Given the description of an element on the screen output the (x, y) to click on. 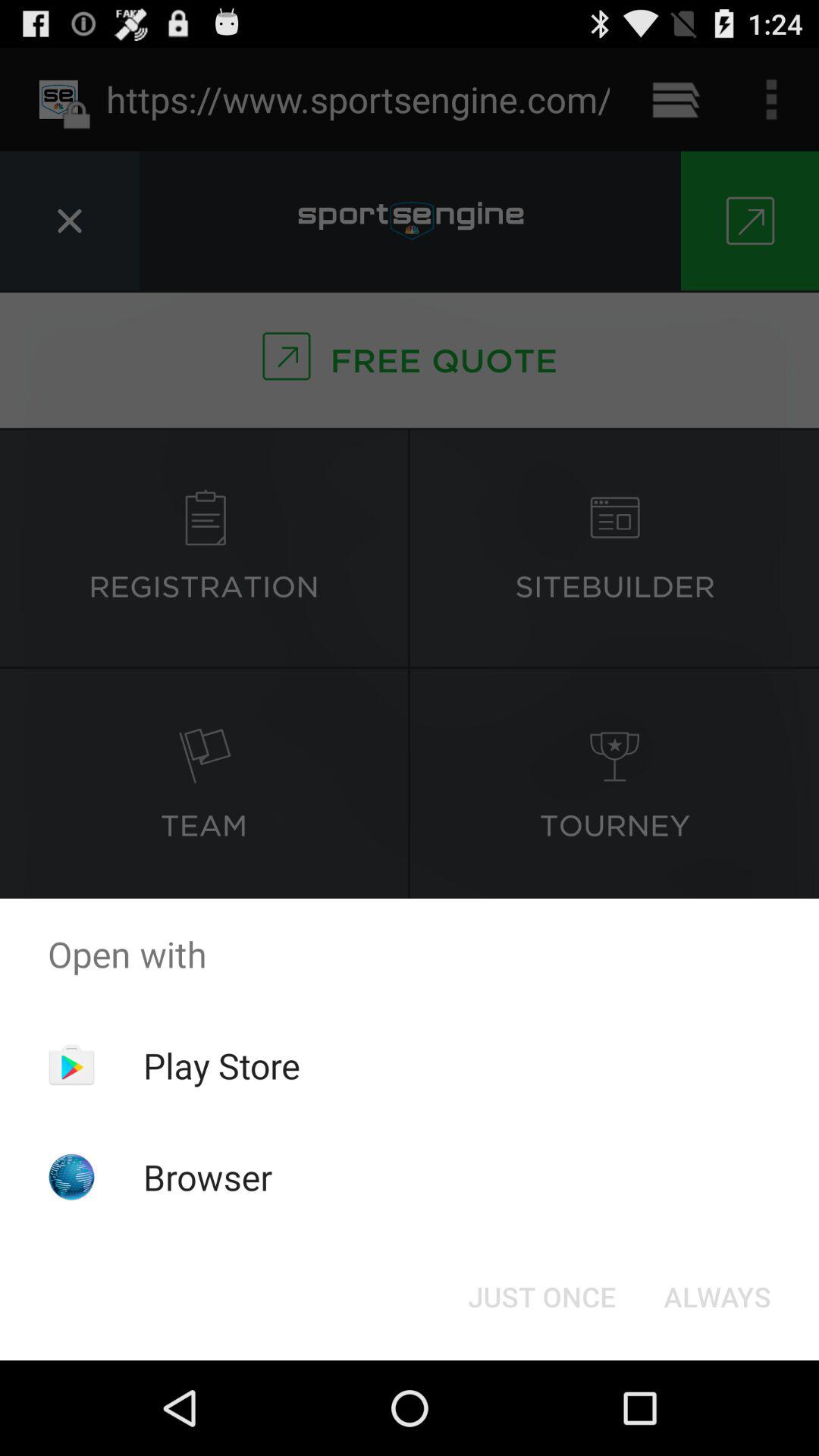
click the icon next to the always (541, 1296)
